Given the description of an element on the screen output the (x, y) to click on. 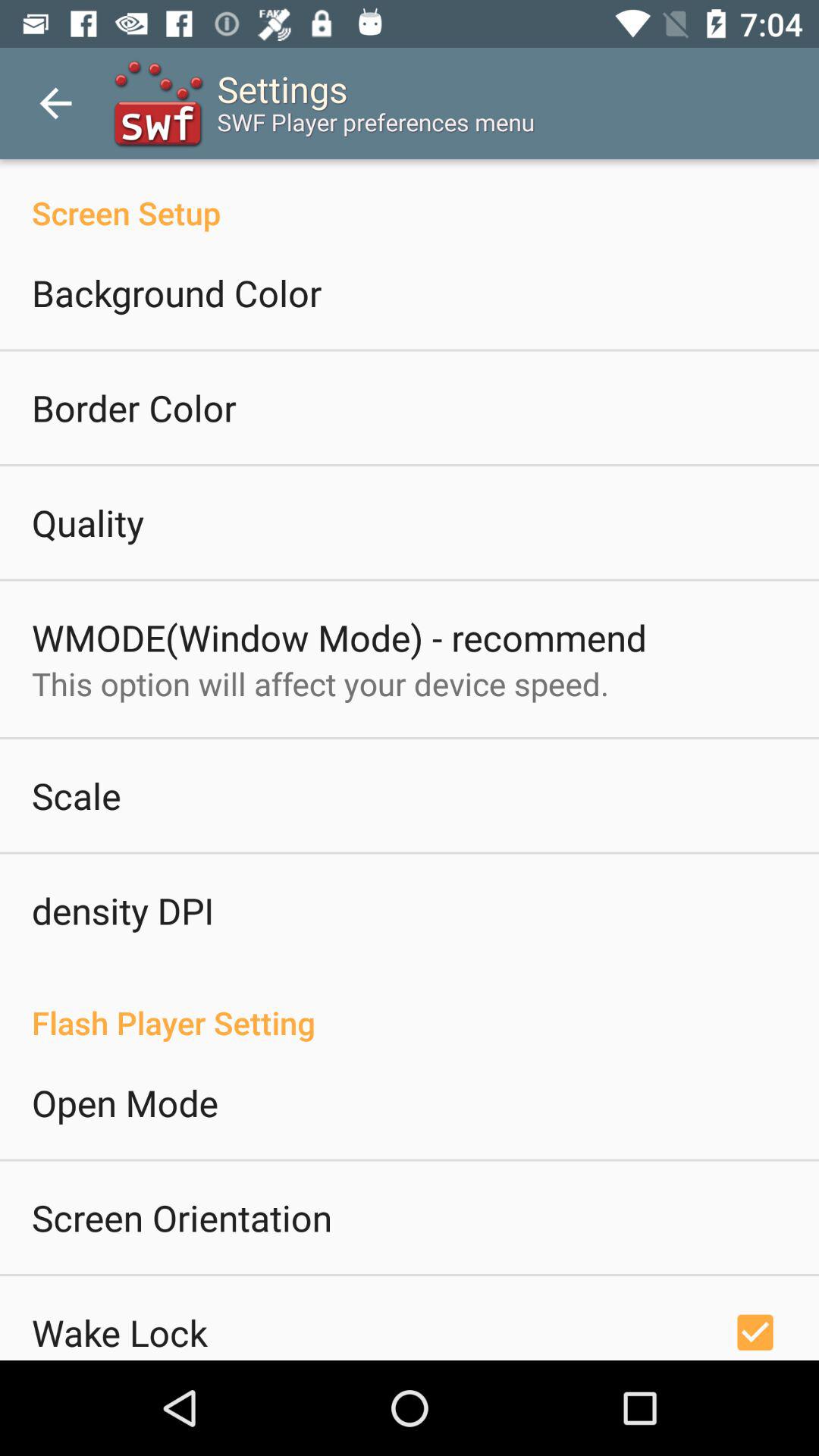
tap the item above the background color item (409, 196)
